Given the description of an element on the screen output the (x, y) to click on. 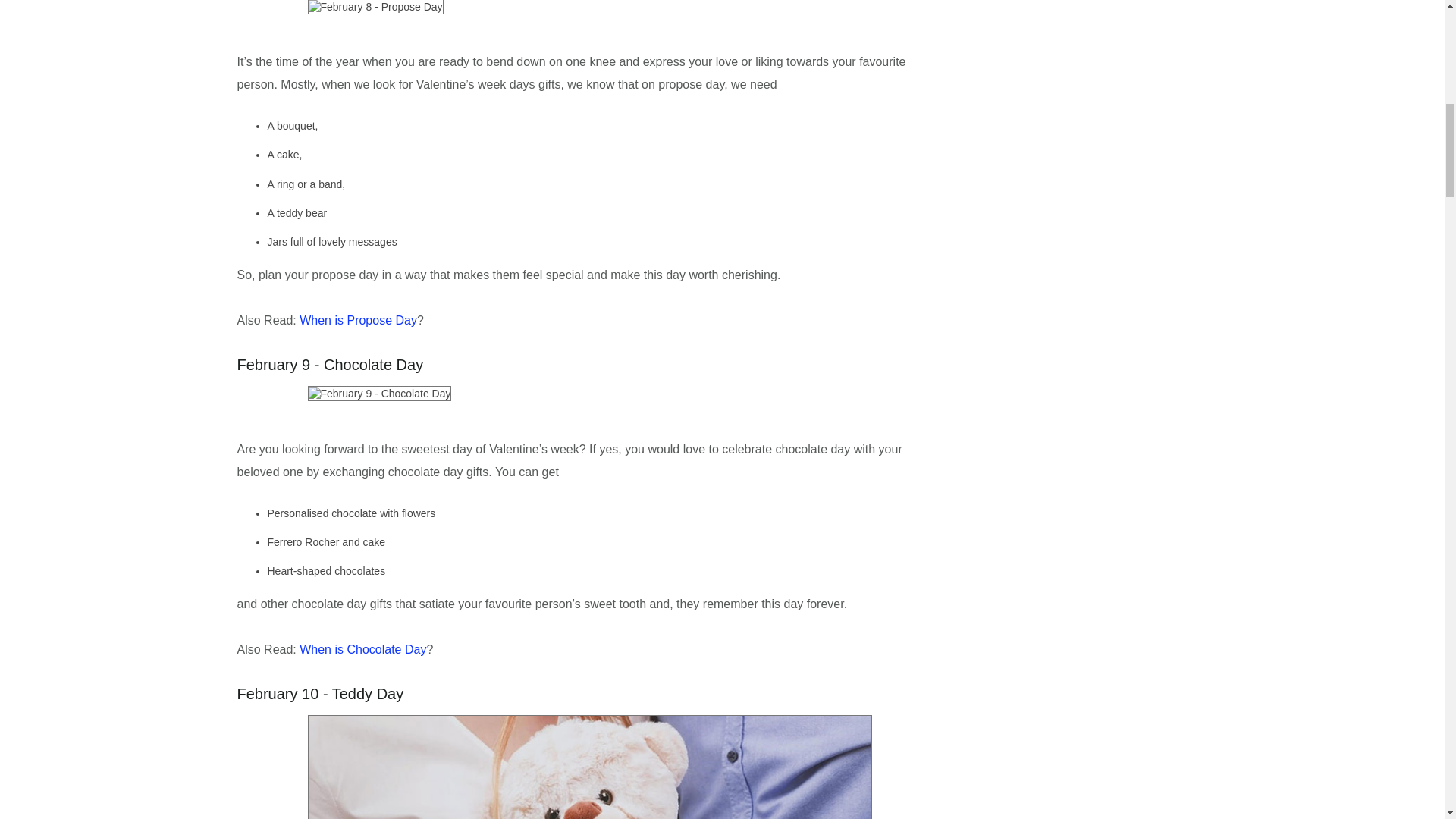
February 9 - Chocolate Day (379, 393)
When is Chocolate Day (362, 649)
February 8 - Propose Day (375, 7)
When is Propose Day (357, 319)
February 10 - Teddy Day (589, 766)
